Given the description of an element on the screen output the (x, y) to click on. 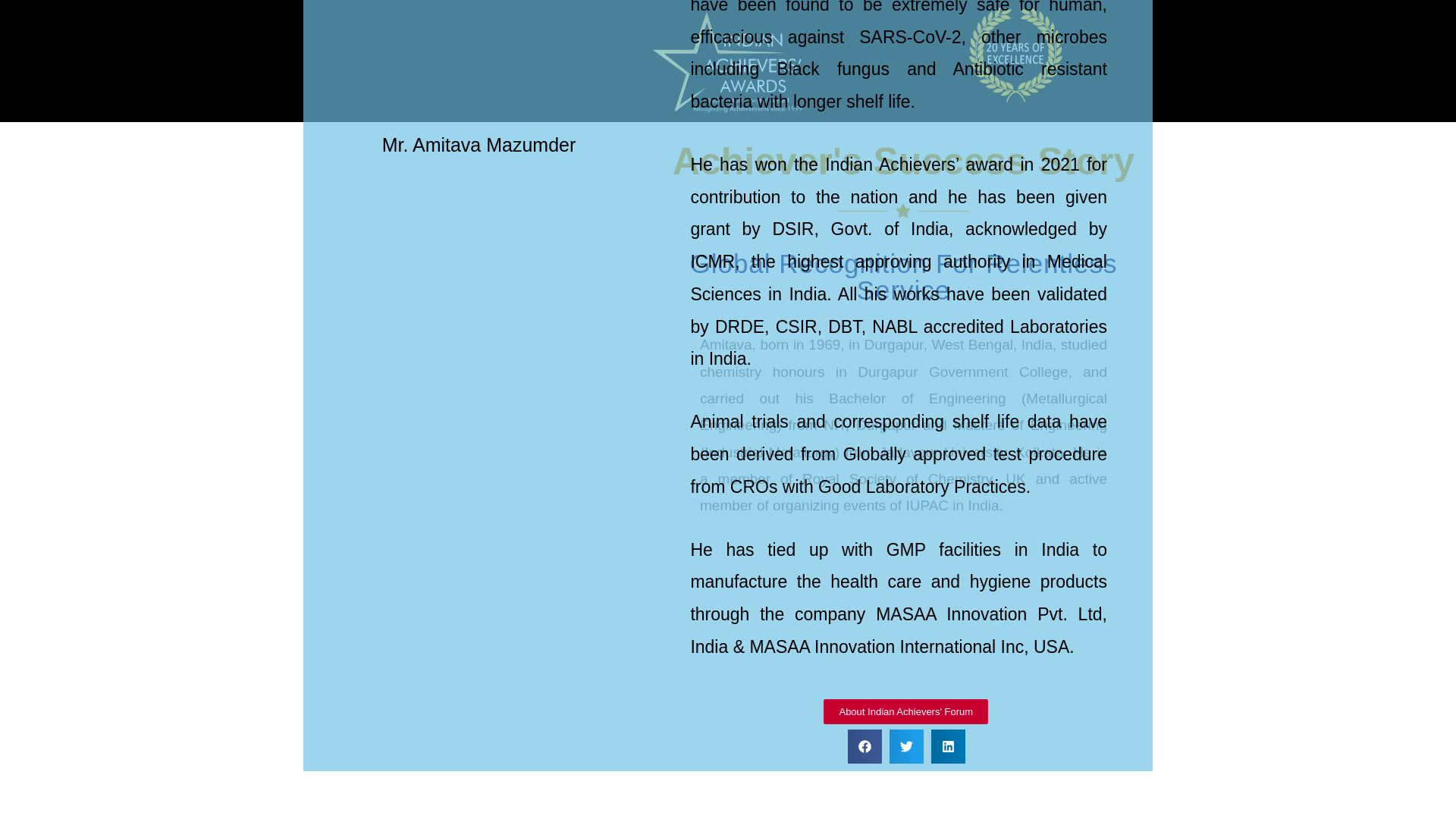
About Indian Achievers' Forum (958, 719)
